Given the description of an element on the screen output the (x, y) to click on. 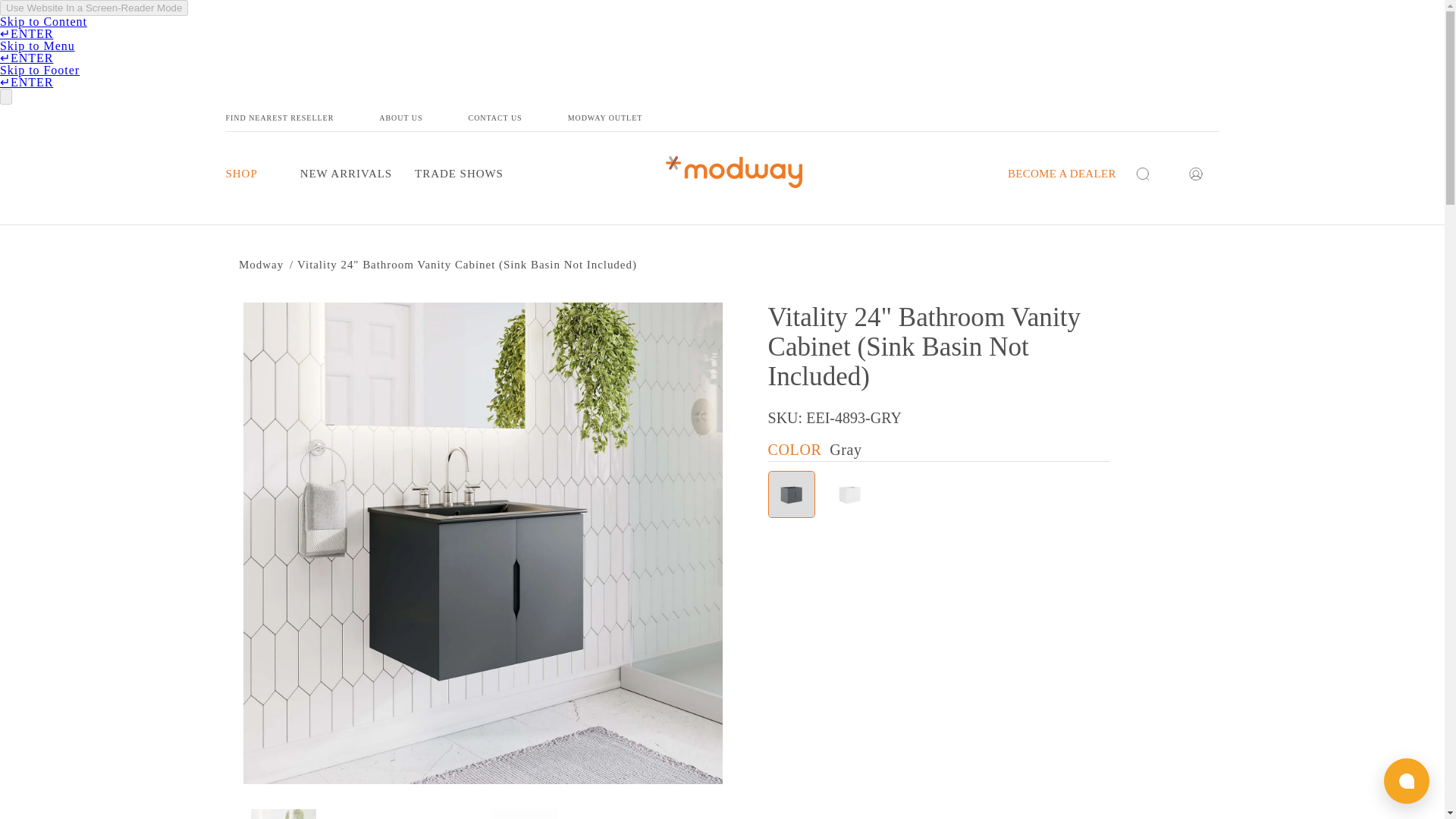
FIND NEAREST RESELLER (302, 117)
Skip to content (72, 27)
CONTACT US (517, 117)
MODWAY OUTLET (627, 117)
ABOUT US (422, 117)
